Given the description of an element on the screen output the (x, y) to click on. 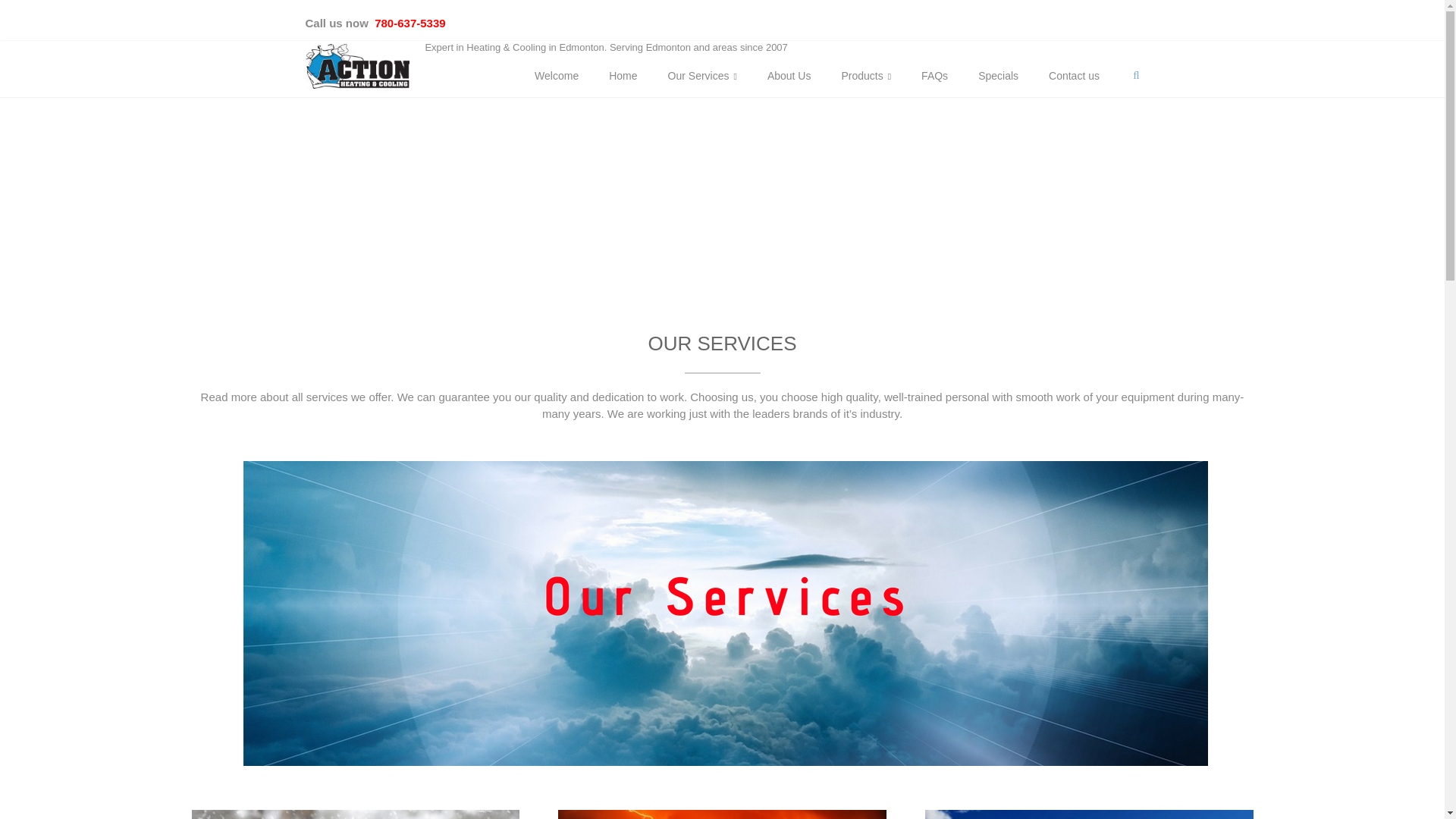
Get a quote (818, 185)
Heating (721, 814)
Heating (721, 815)
Other (1088, 815)
Cooling (354, 815)
 780-637-5339 (408, 22)
Welcome (556, 76)
About Us (788, 76)
Cooling (354, 814)
